Given the description of an element on the screen output the (x, y) to click on. 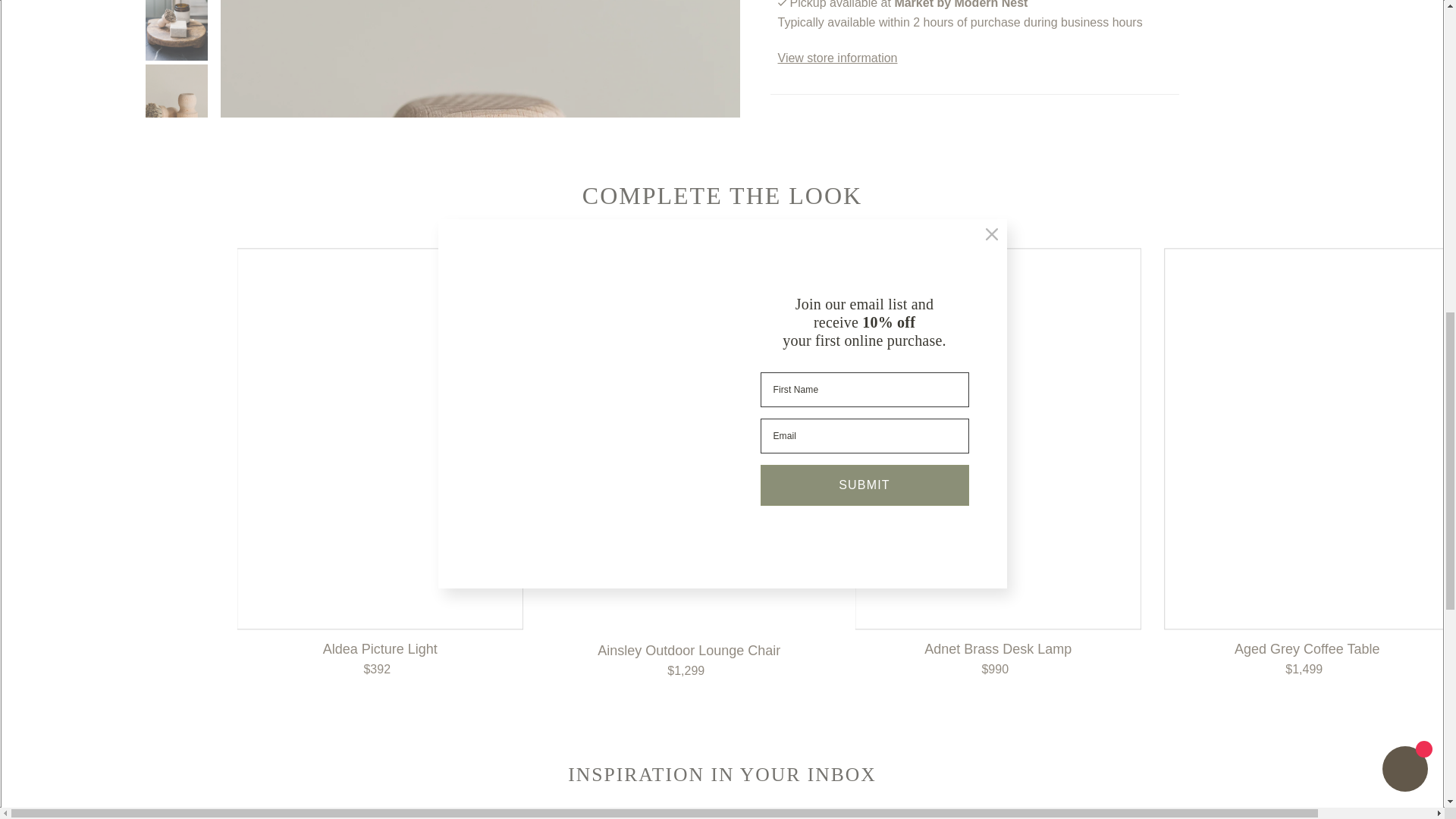
Join (1024, 817)
